Given the description of an element on the screen output the (x, y) to click on. 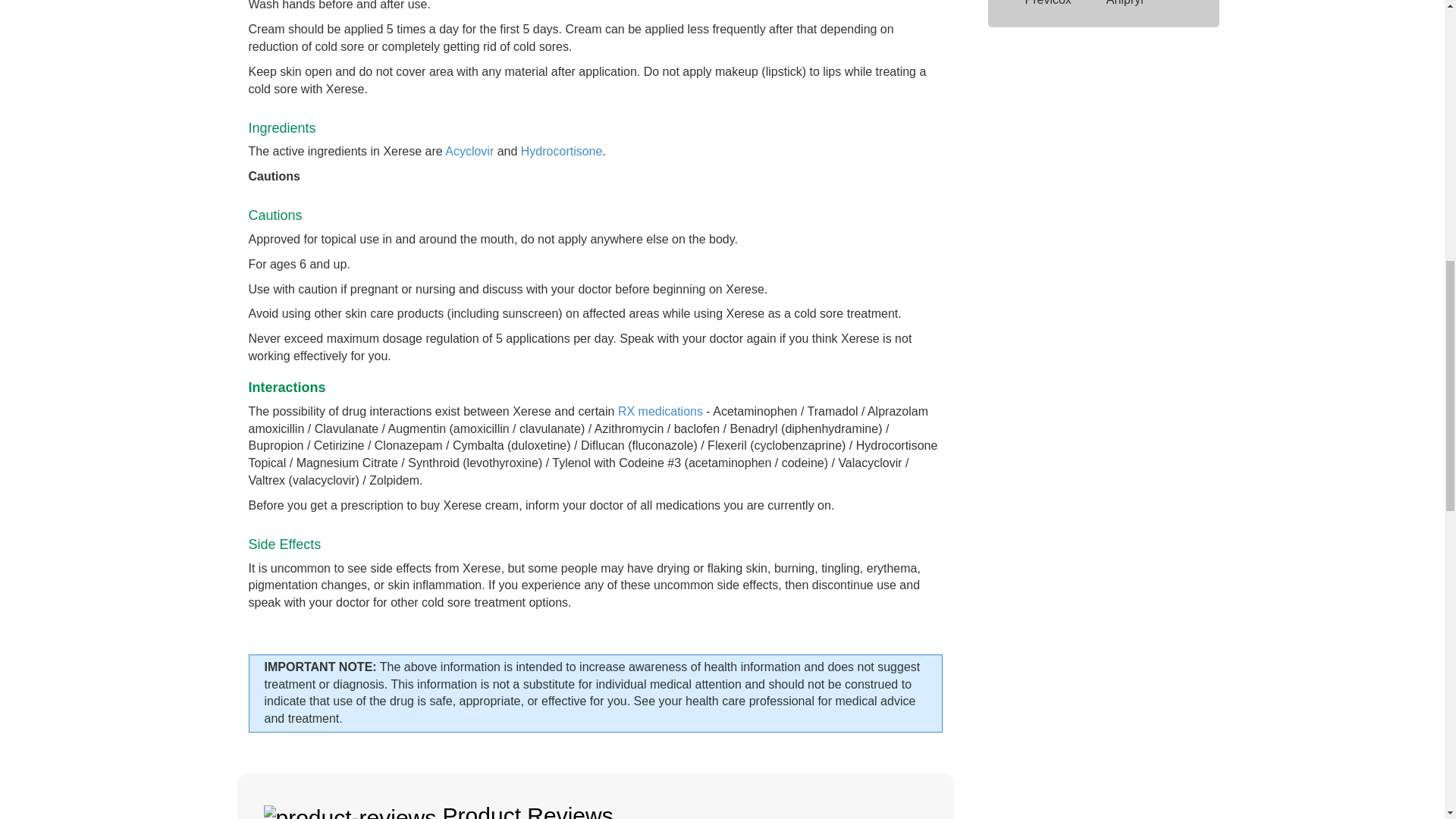
Product Reviews (594, 796)
Acyclovir (469, 151)
Hydrocortisone (561, 151)
RX medications (660, 410)
